Given the description of an element on the screen output the (x, y) to click on. 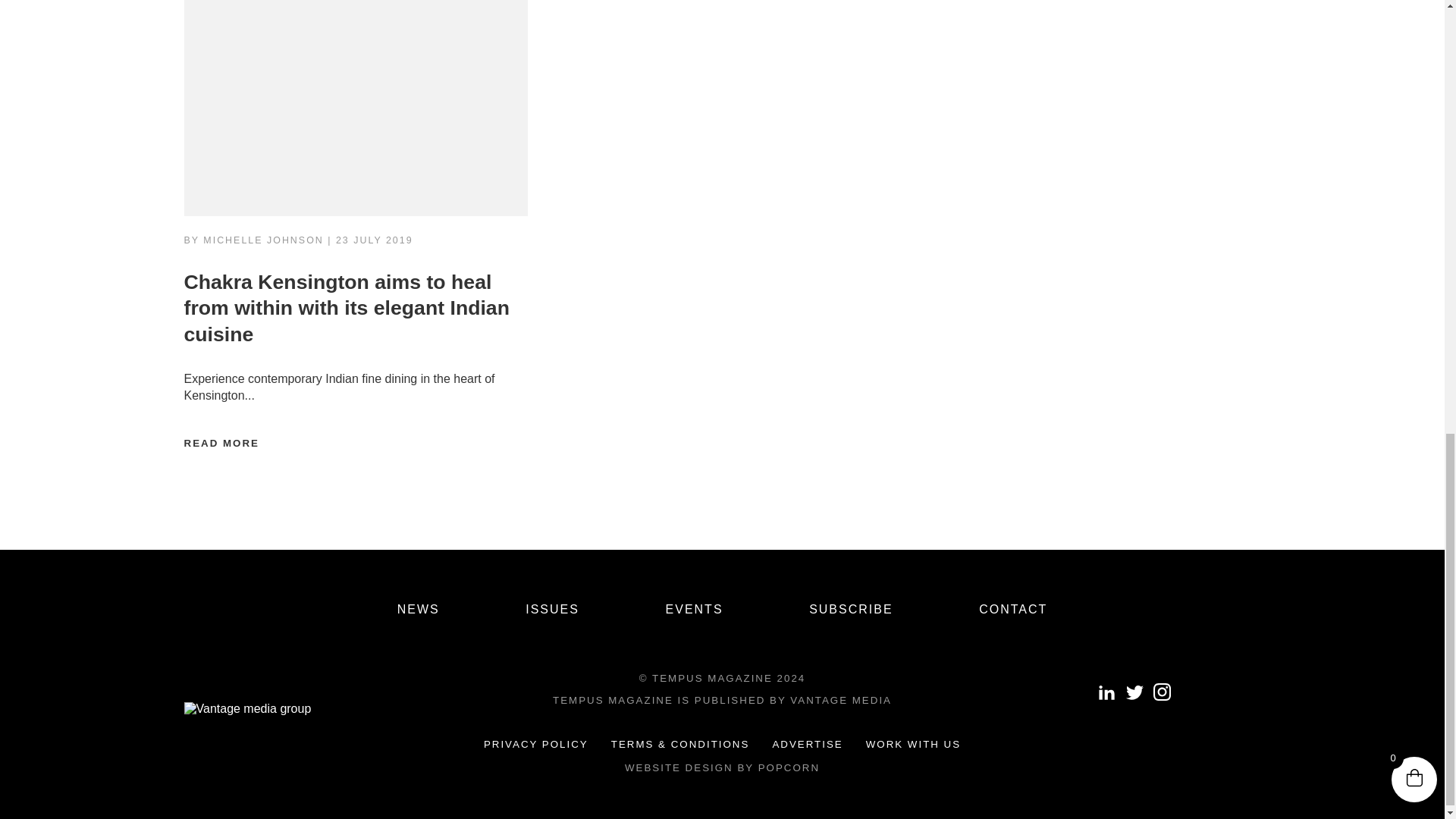
ISSUES (552, 608)
CONTACT (1012, 608)
VANTAGE MEDIA (840, 699)
NEWS (418, 608)
EVENTS (694, 608)
ADVERTISE (807, 743)
PRIVACY POLICY (535, 743)
WORK WITH US (913, 743)
SUBSCRIBE (850, 608)
